Given the description of an element on the screen output the (x, y) to click on. 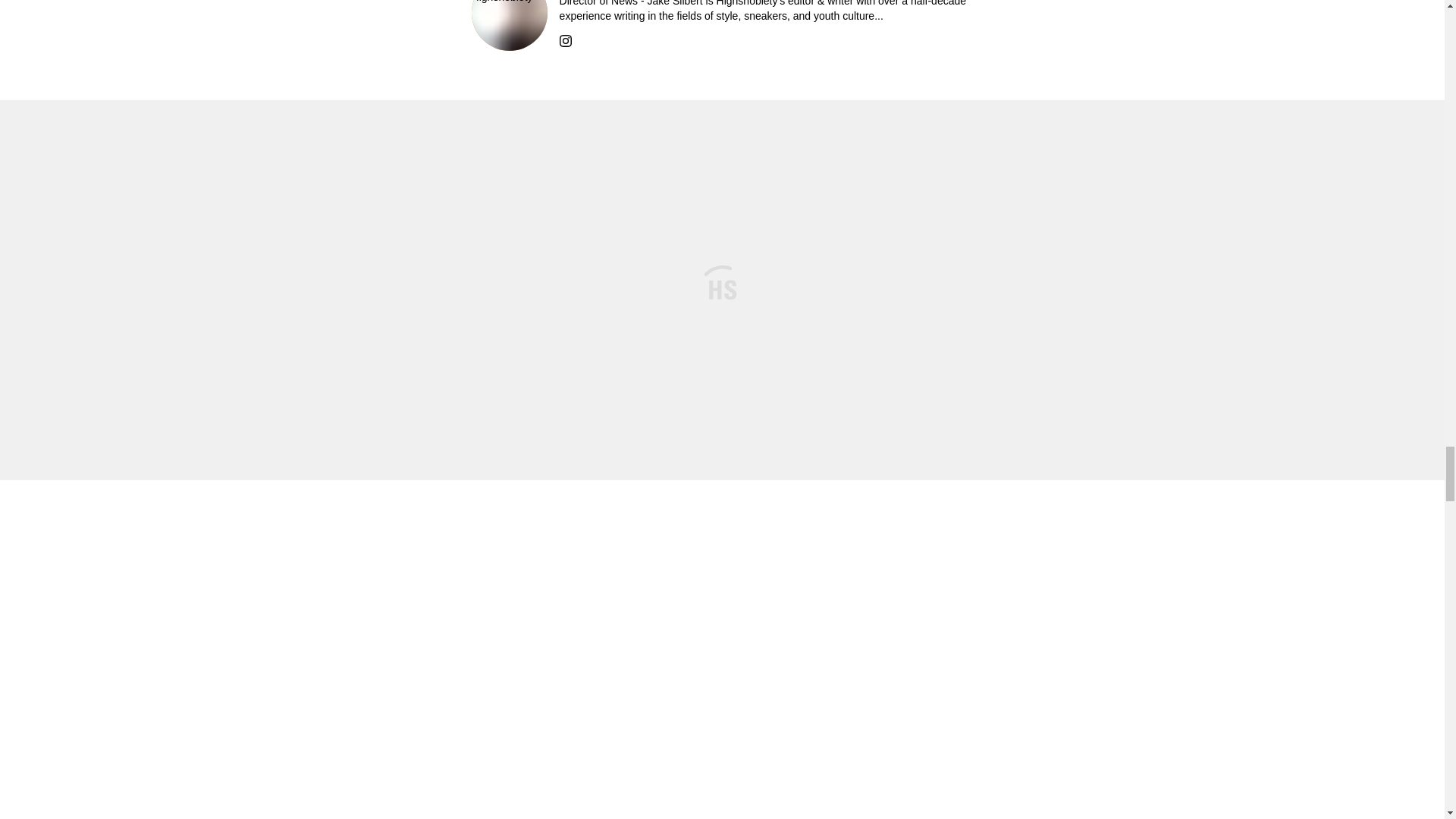
Follow author Jake Silbert on instagram (565, 39)
